Given the description of an element on the screen output the (x, y) to click on. 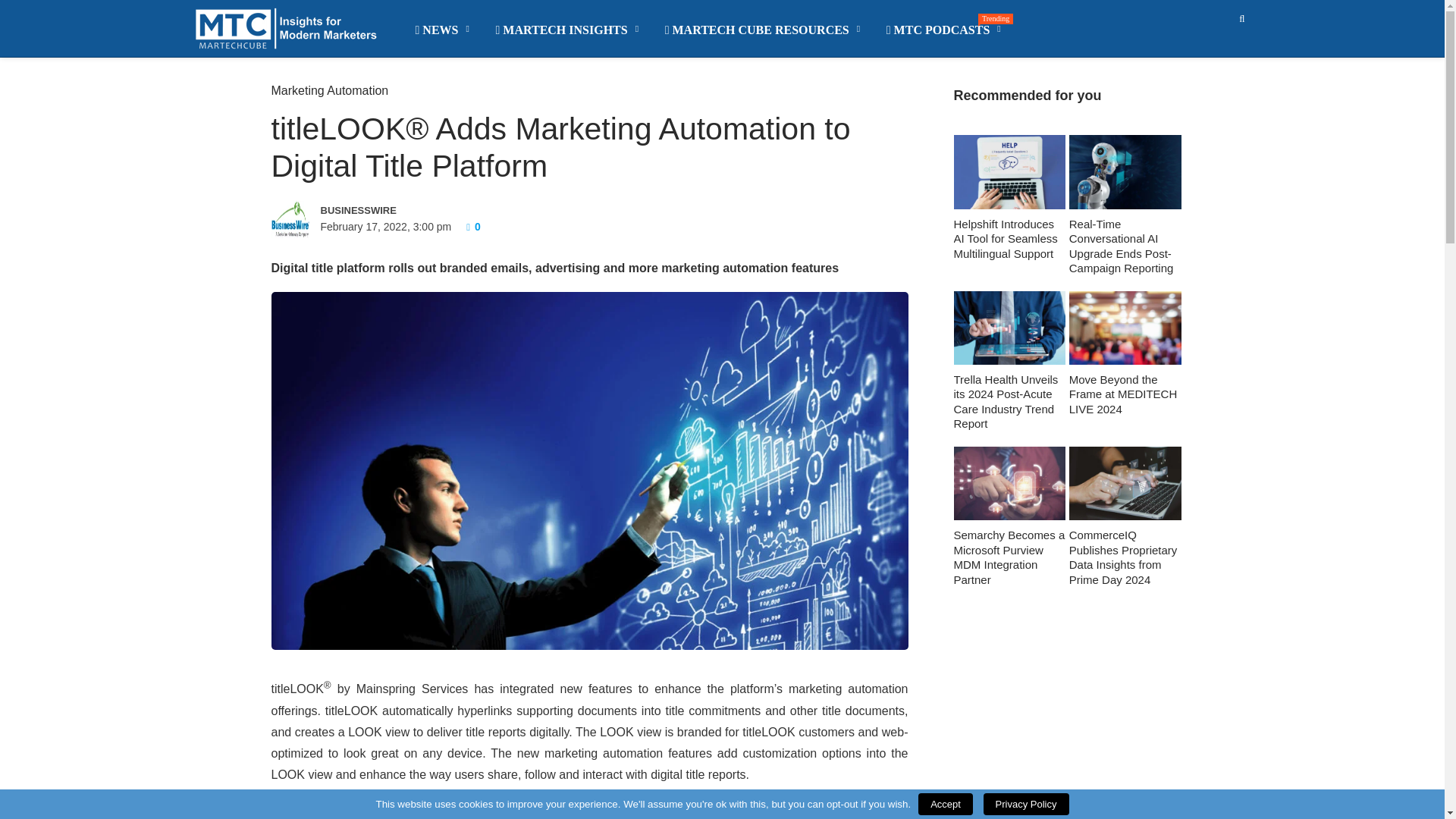
View all posts by BusinessWire (426, 209)
NEWS (443, 30)
